Given the description of an element on the screen output the (x, y) to click on. 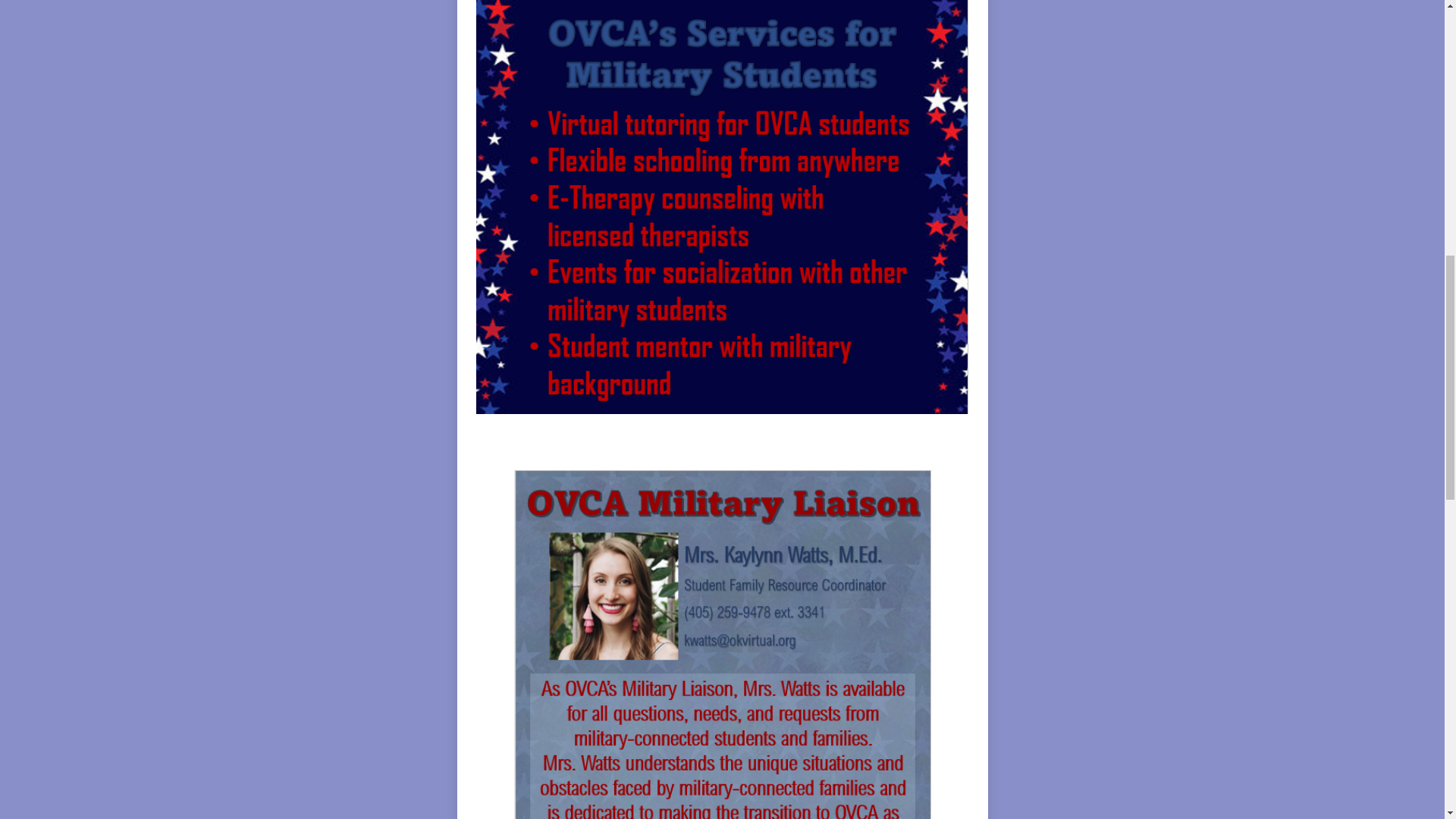
Liaison (786, 441)
Military (719, 441)
OVCA (655, 441)
